Given the description of an element on the screen output the (x, y) to click on. 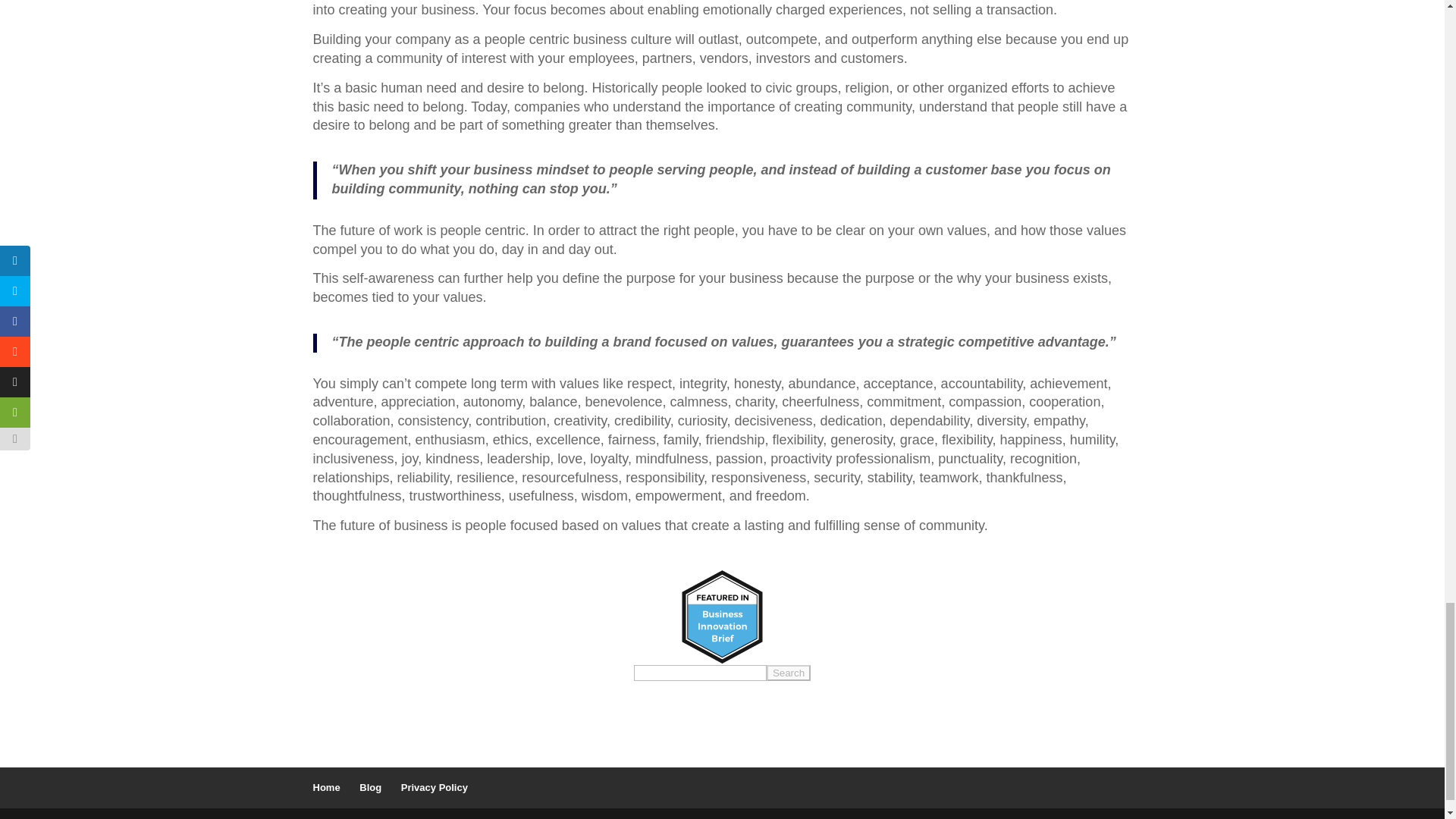
Home (326, 787)
Search (788, 672)
Privacy Policy (434, 787)
Business Innovation Brief (722, 616)
Search (788, 672)
Blog (370, 787)
